Given the description of an element on the screen output the (x, y) to click on. 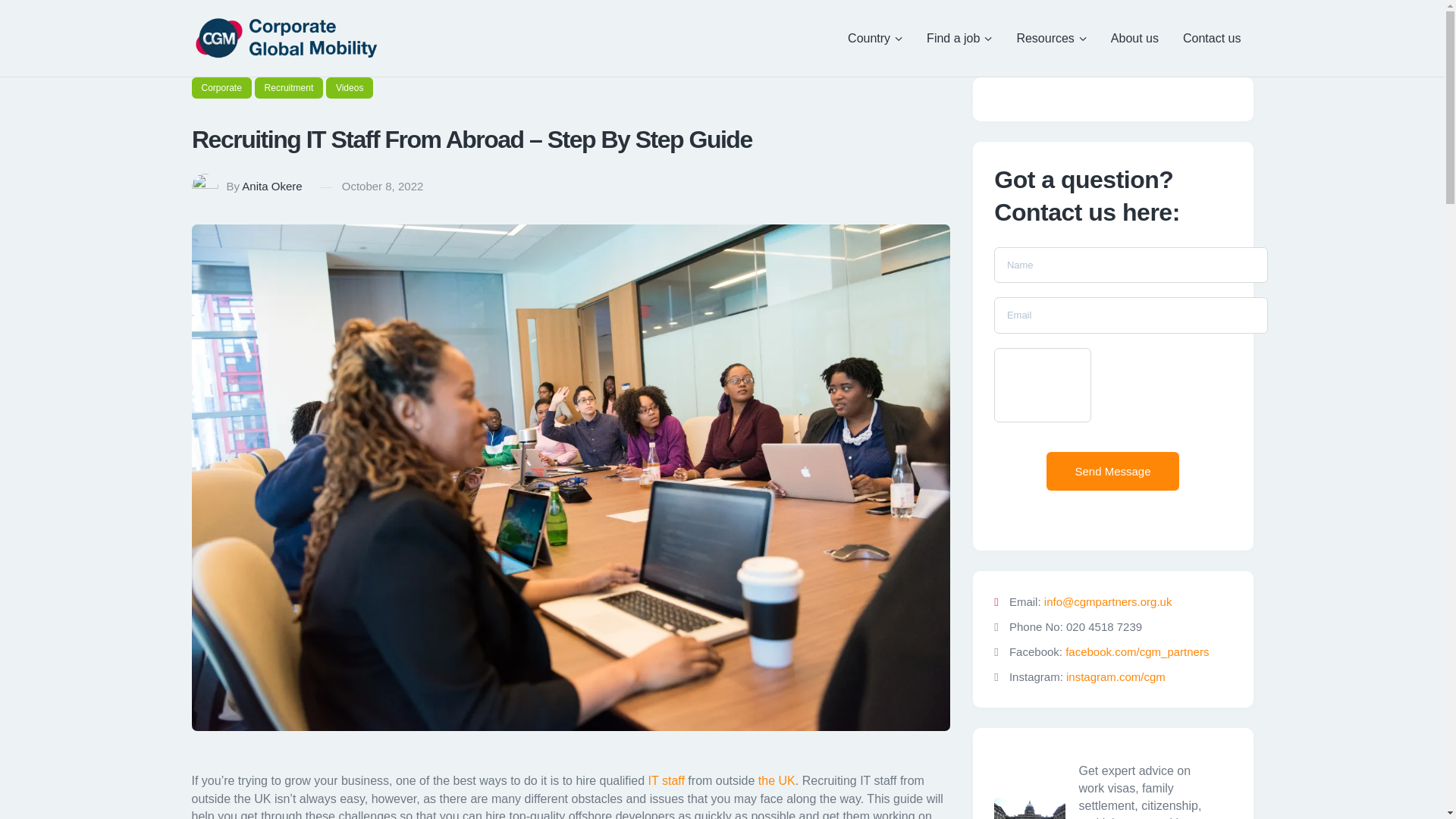
Country (874, 37)
Find a job (959, 37)
Send Message (1112, 471)
Contact us (1211, 37)
About us (1134, 37)
Resources (1050, 37)
